Given the description of an element on the screen output the (x, y) to click on. 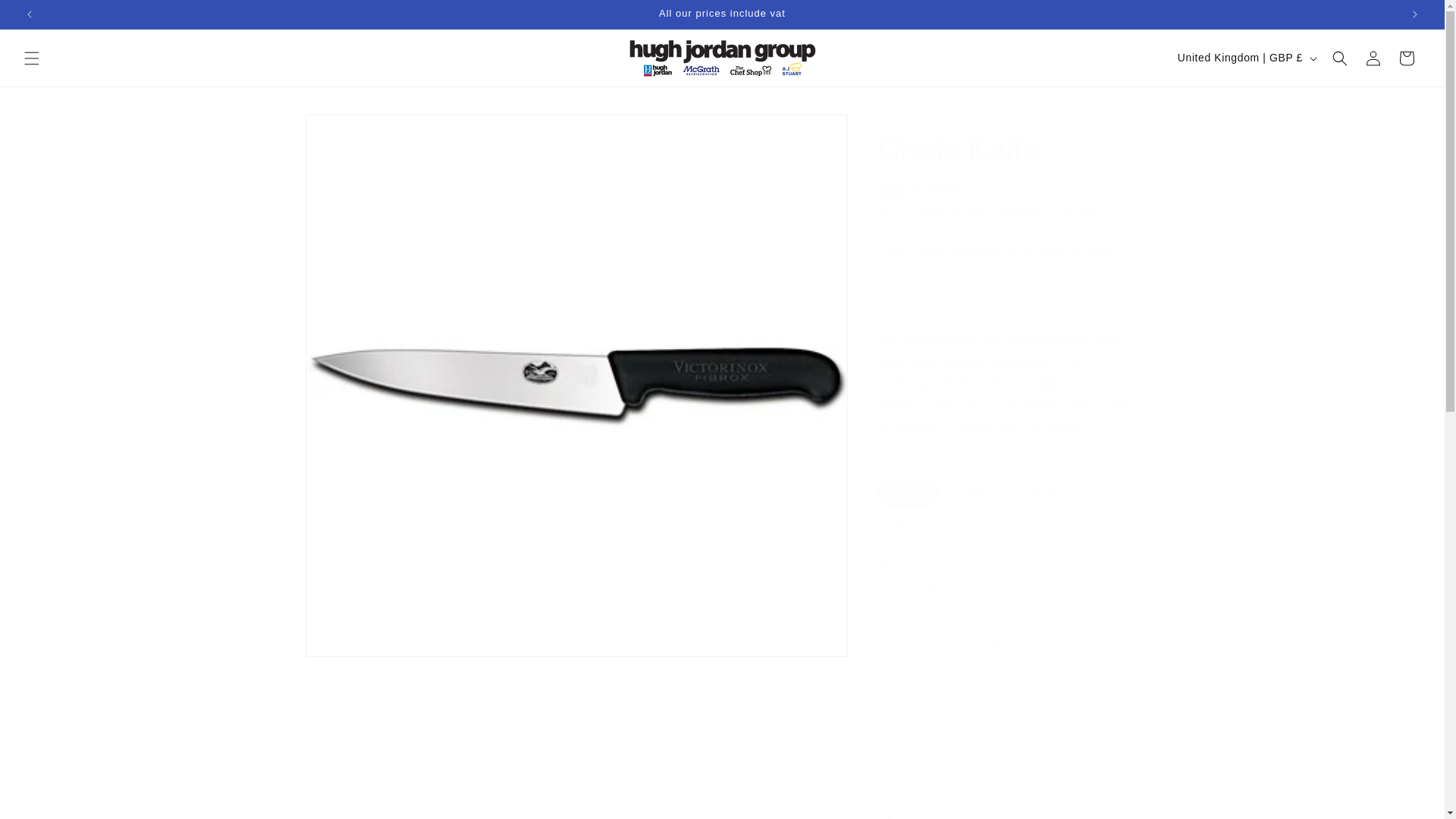
1 (931, 591)
Skip to content (45, 17)
